Given the description of an element on the screen output the (x, y) to click on. 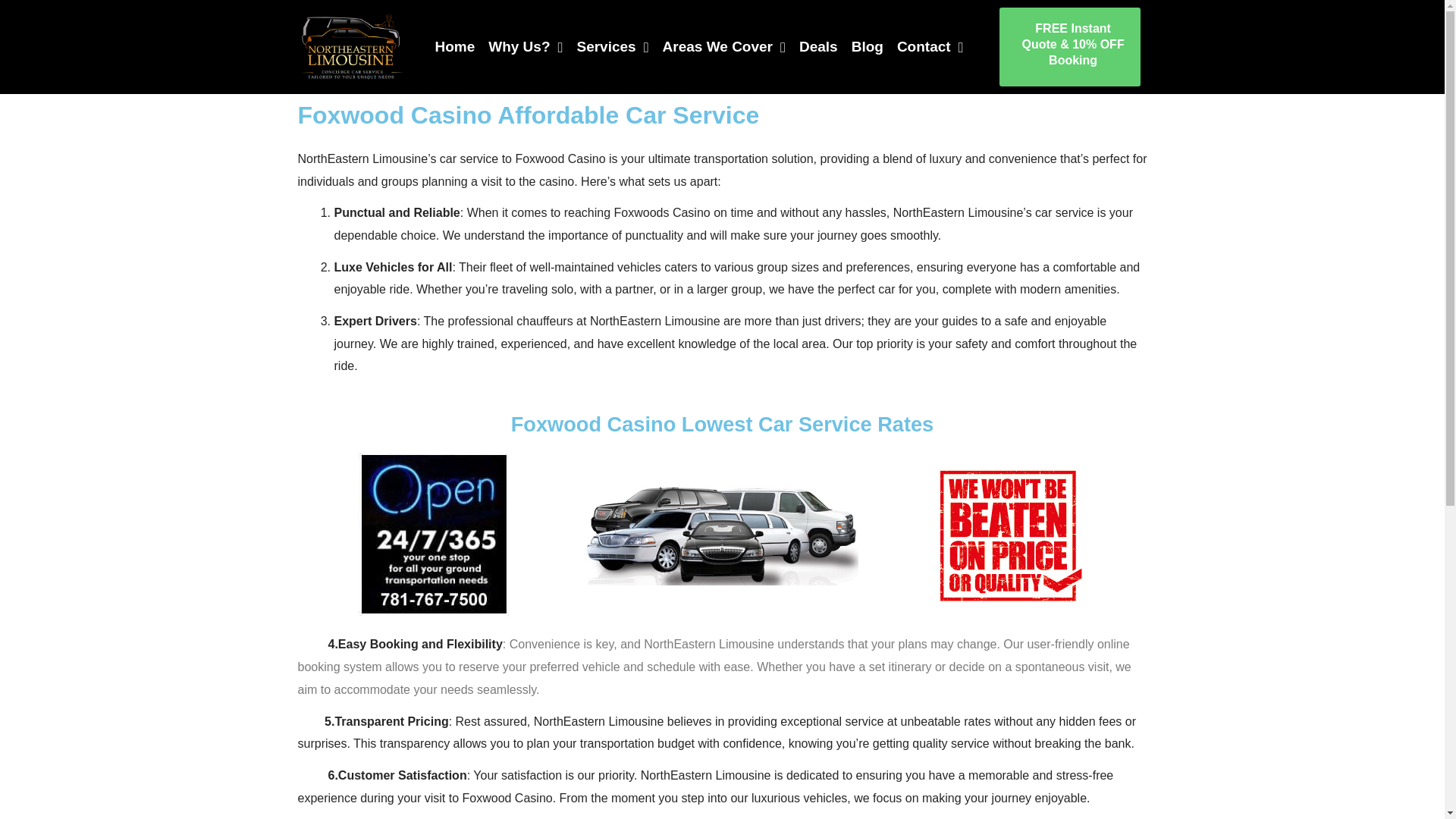
Home (453, 46)
Why Us? (524, 46)
Contact (929, 46)
Areas We Cover (724, 46)
Services (611, 46)
Deals (818, 46)
